Given the description of an element on the screen output the (x, y) to click on. 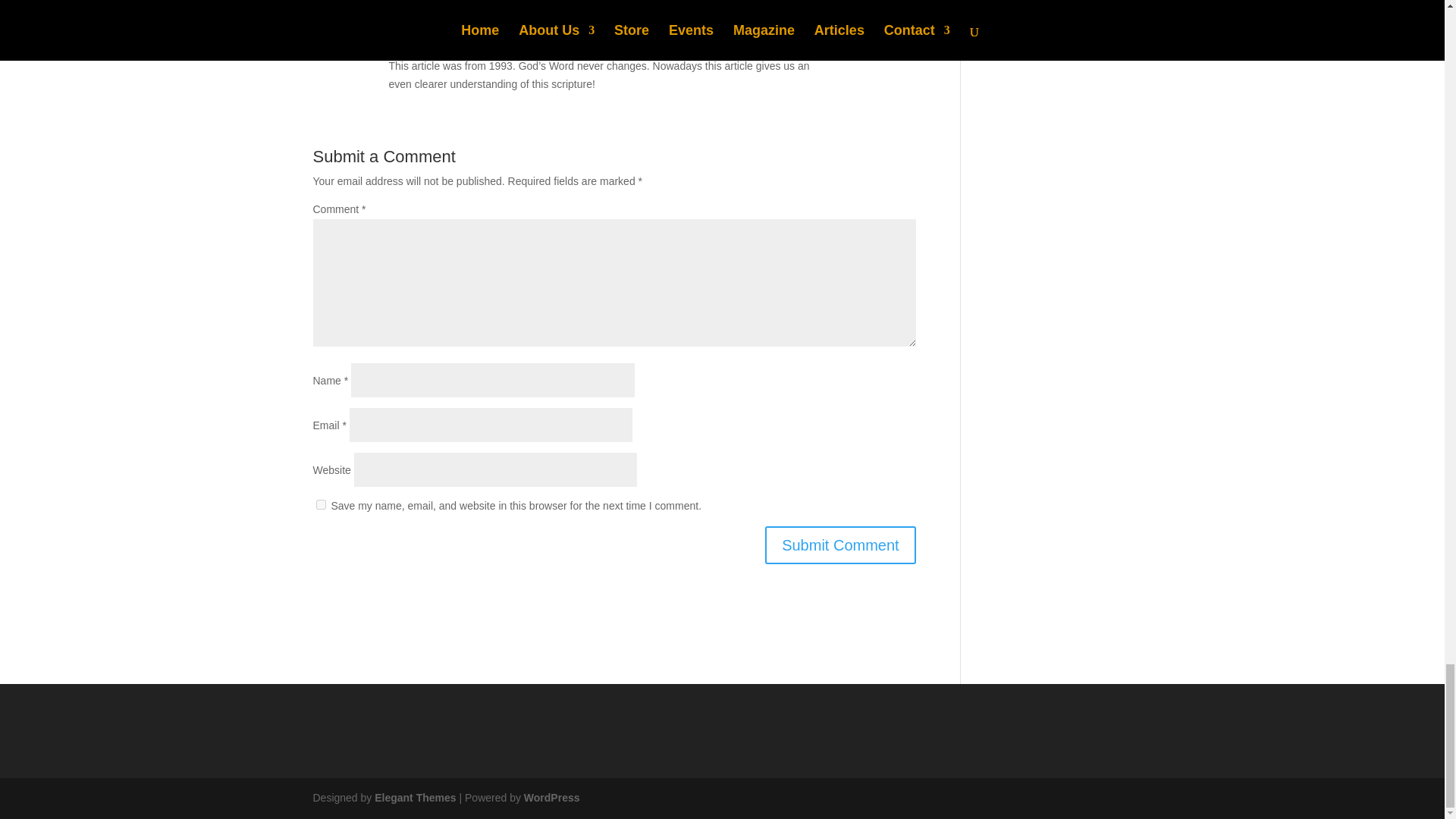
Reply (901, 47)
Premium WordPress Themes (414, 797)
Jan (398, 42)
WordPress (551, 797)
Submit Comment (840, 545)
Elegant Themes (414, 797)
yes (319, 504)
Submit Comment (840, 545)
